Given the description of an element on the screen output the (x, y) to click on. 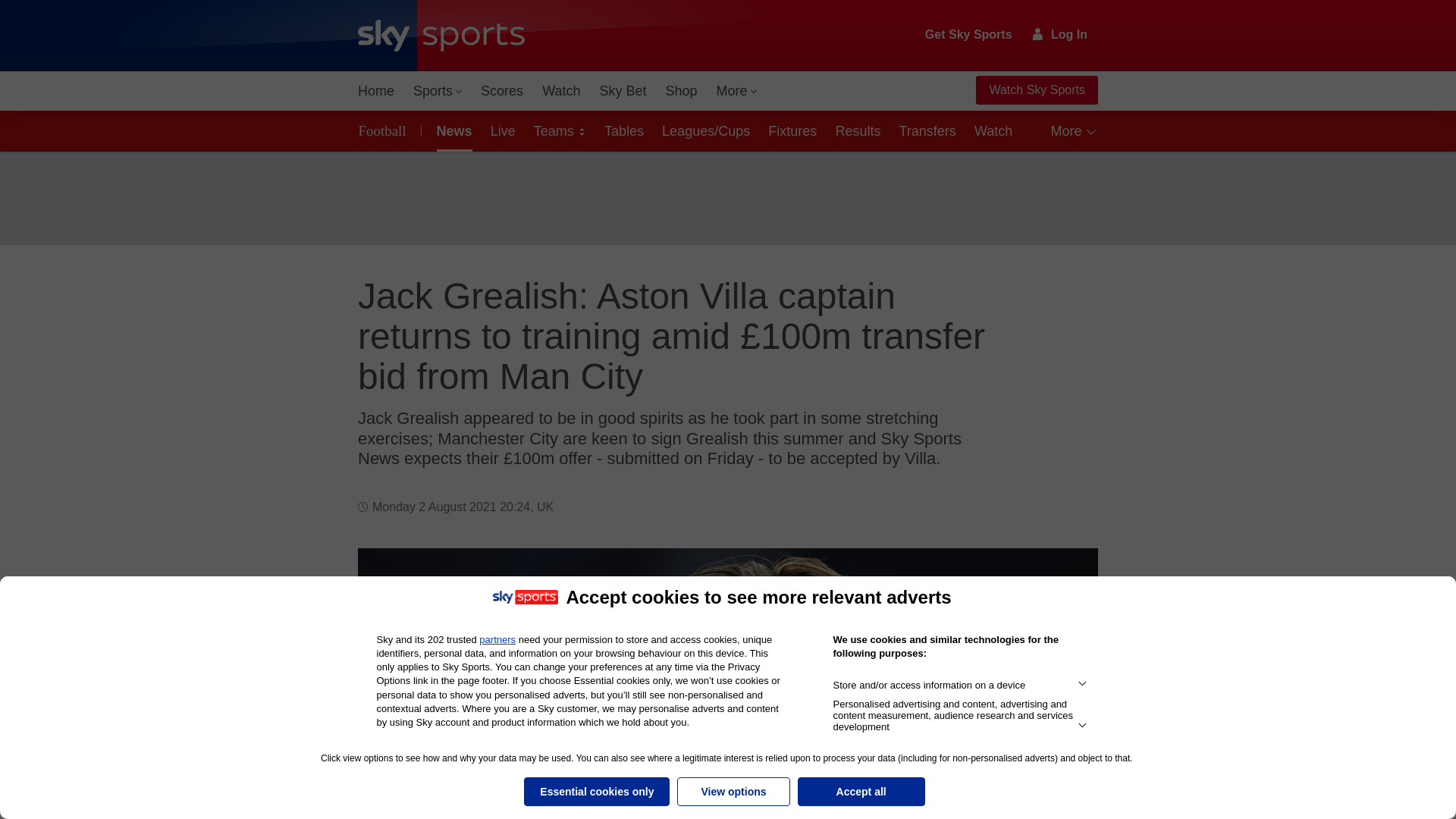
Log In (1060, 33)
Sky Bet (622, 91)
Shop (681, 91)
Sports (437, 91)
Scores (502, 91)
Watch Sky Sports (1036, 90)
News (451, 130)
Watch (561, 91)
More (736, 91)
Football (385, 130)
